Given the description of an element on the screen output the (x, y) to click on. 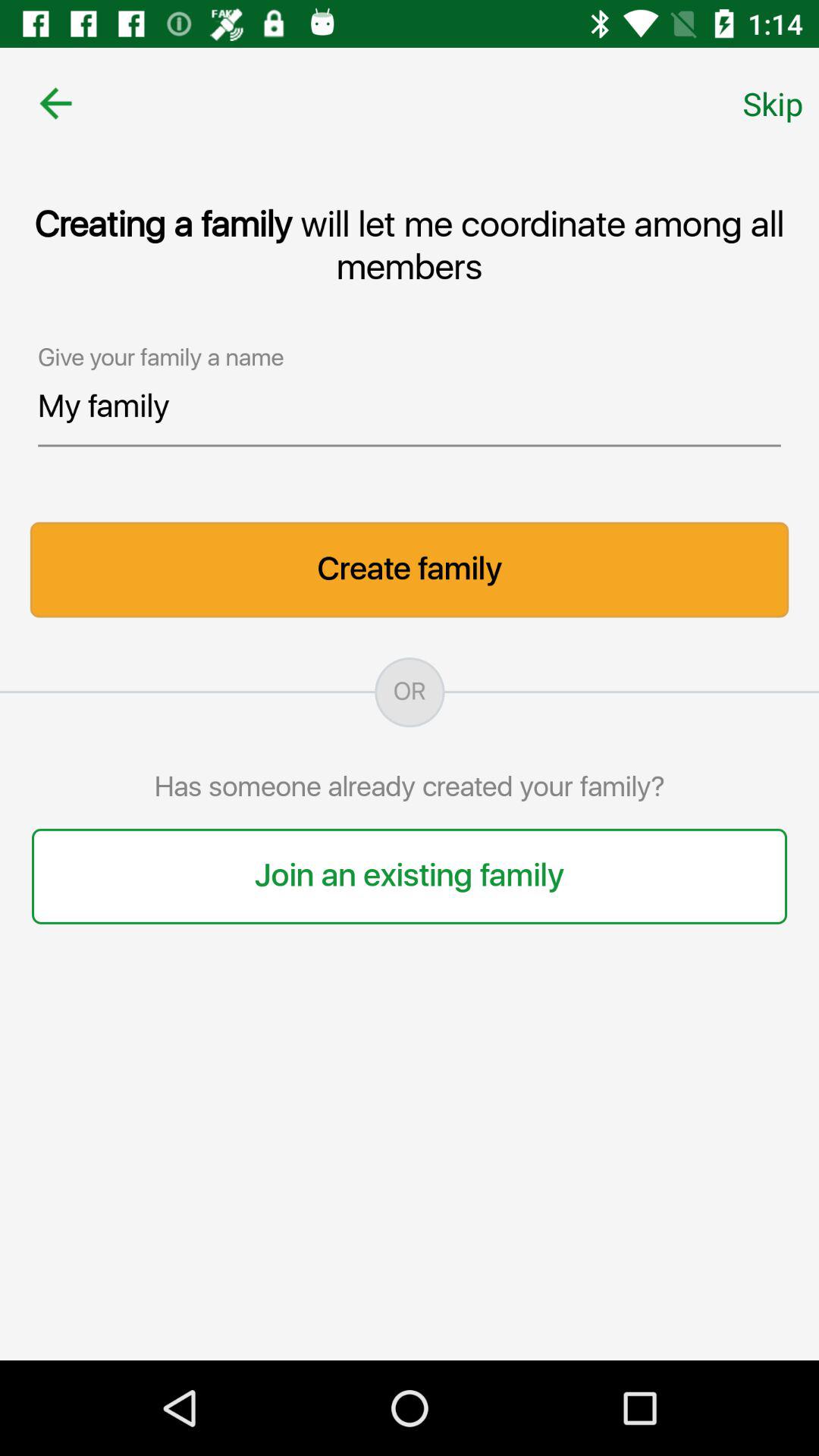
choose item below the my family (409, 569)
